Given the description of an element on the screen output the (x, y) to click on. 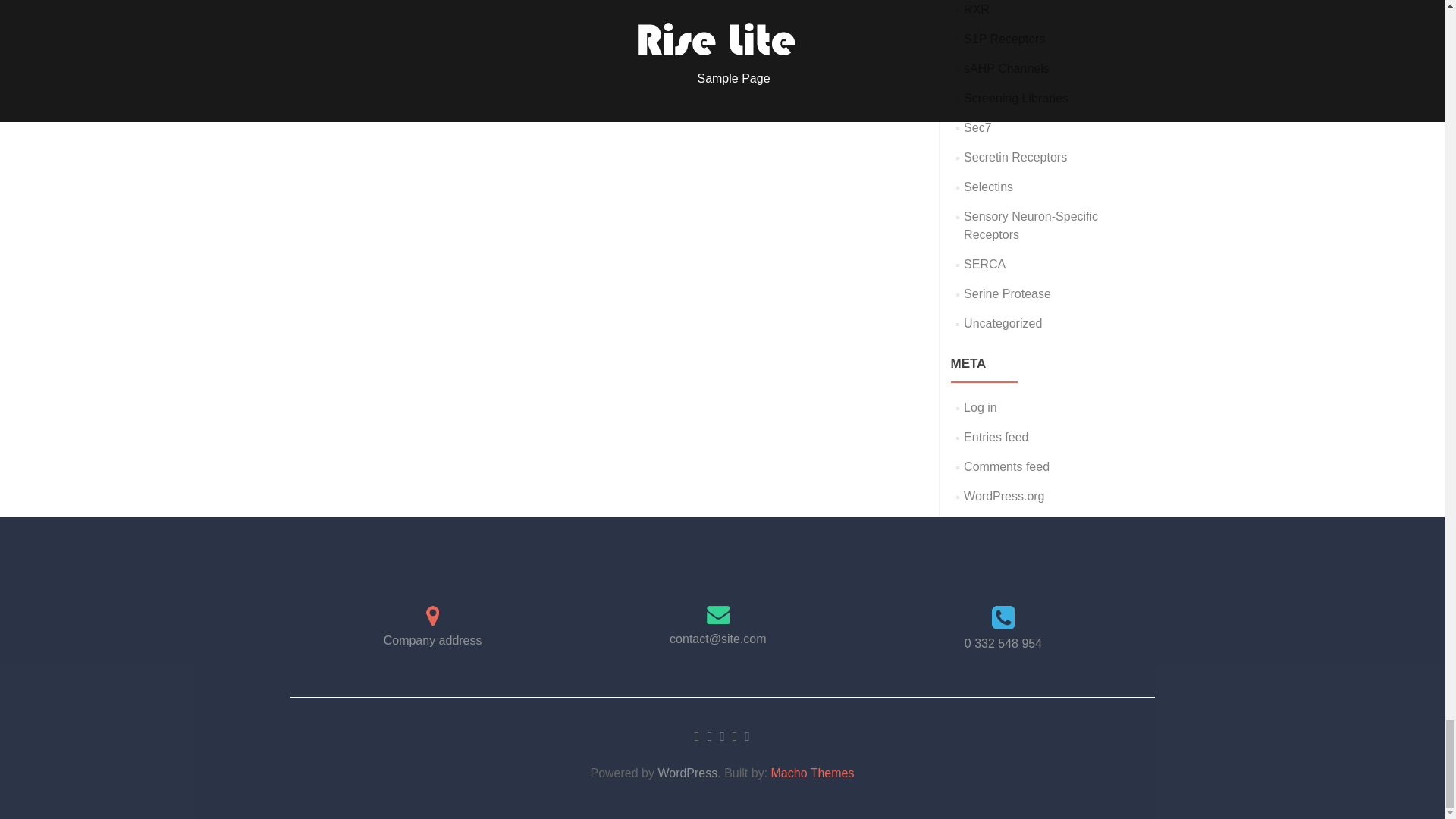
Professional Responsive WordPress Themes (812, 772)
